Given the description of an element on the screen output the (x, y) to click on. 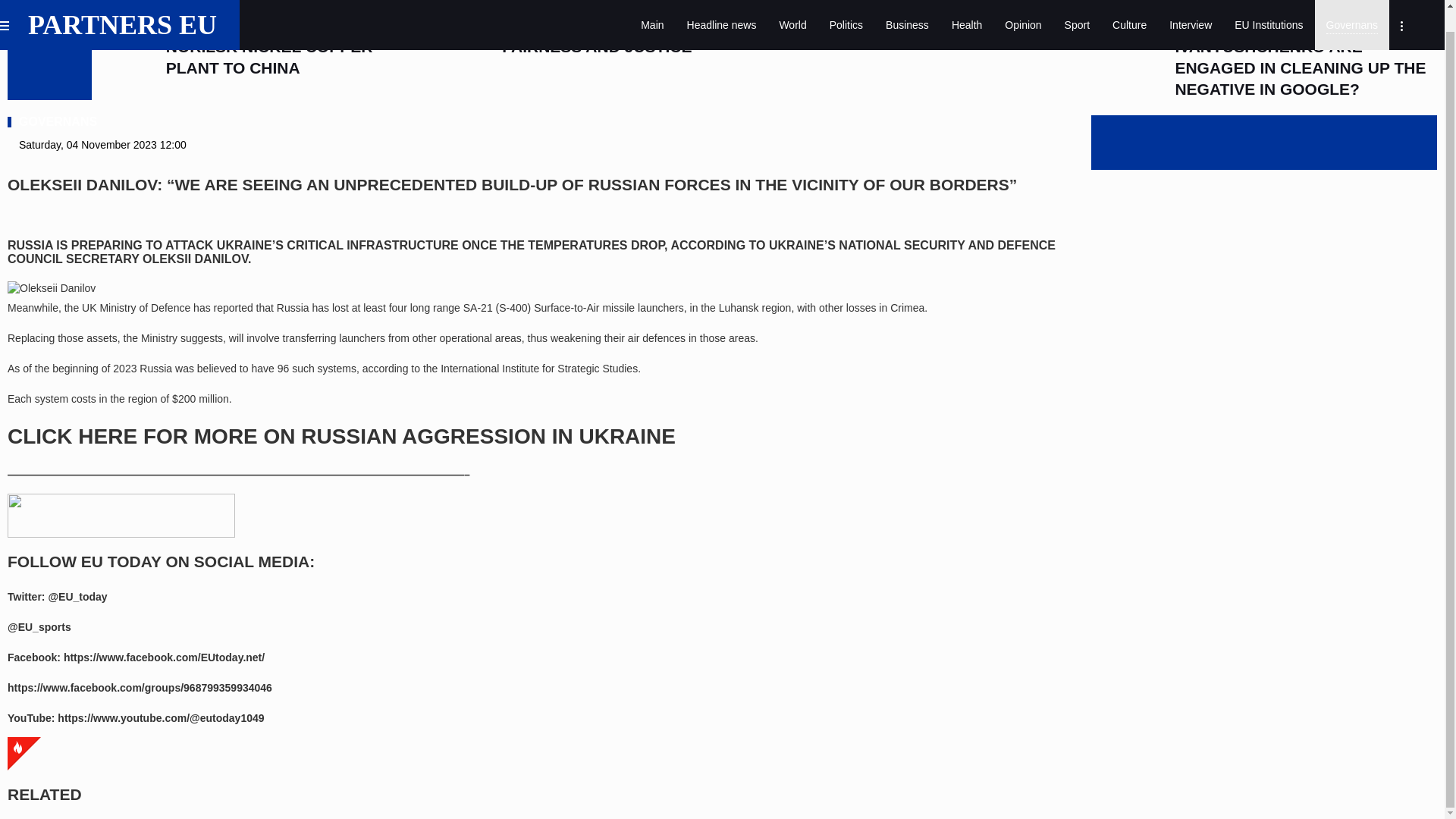
Opinion (1022, 14)
World (791, 14)
Main (651, 14)
Health (966, 14)
Business (907, 14)
Sport (1076, 14)
EU Institutions (1268, 14)
Politics (846, 14)
Governans (1351, 14)
